Given the description of an element on the screen output the (x, y) to click on. 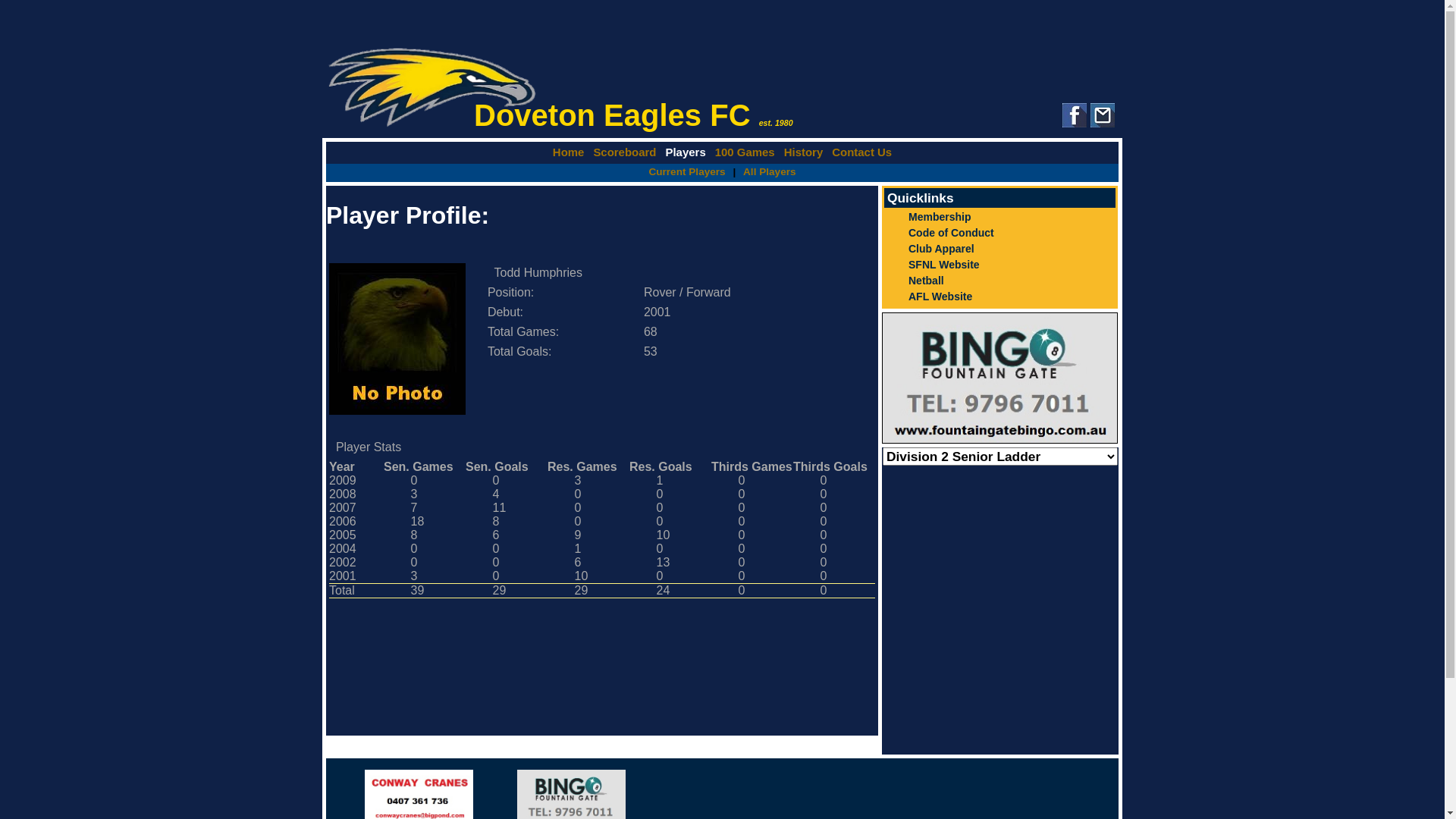
AFL Website Element type: text (999, 295)
Code of Conduct Element type: text (999, 232)
SFNL Website Element type: text (999, 264)
History Element type: text (803, 151)
Scoreboard Element type: text (624, 151)
Players Element type: text (685, 151)
All Players Element type: text (769, 171)
Membership Element type: text (999, 216)
Current Players Element type: text (686, 171)
Club Apparel Element type: text (999, 248)
Netball Element type: text (999, 280)
Contact Us Element type: text (861, 151)
Home Element type: text (568, 151)
Doveton Eagles FC est. 1980 Element type: text (722, 87)
100 Games Element type: text (745, 151)
